Given the description of an element on the screen output the (x, y) to click on. 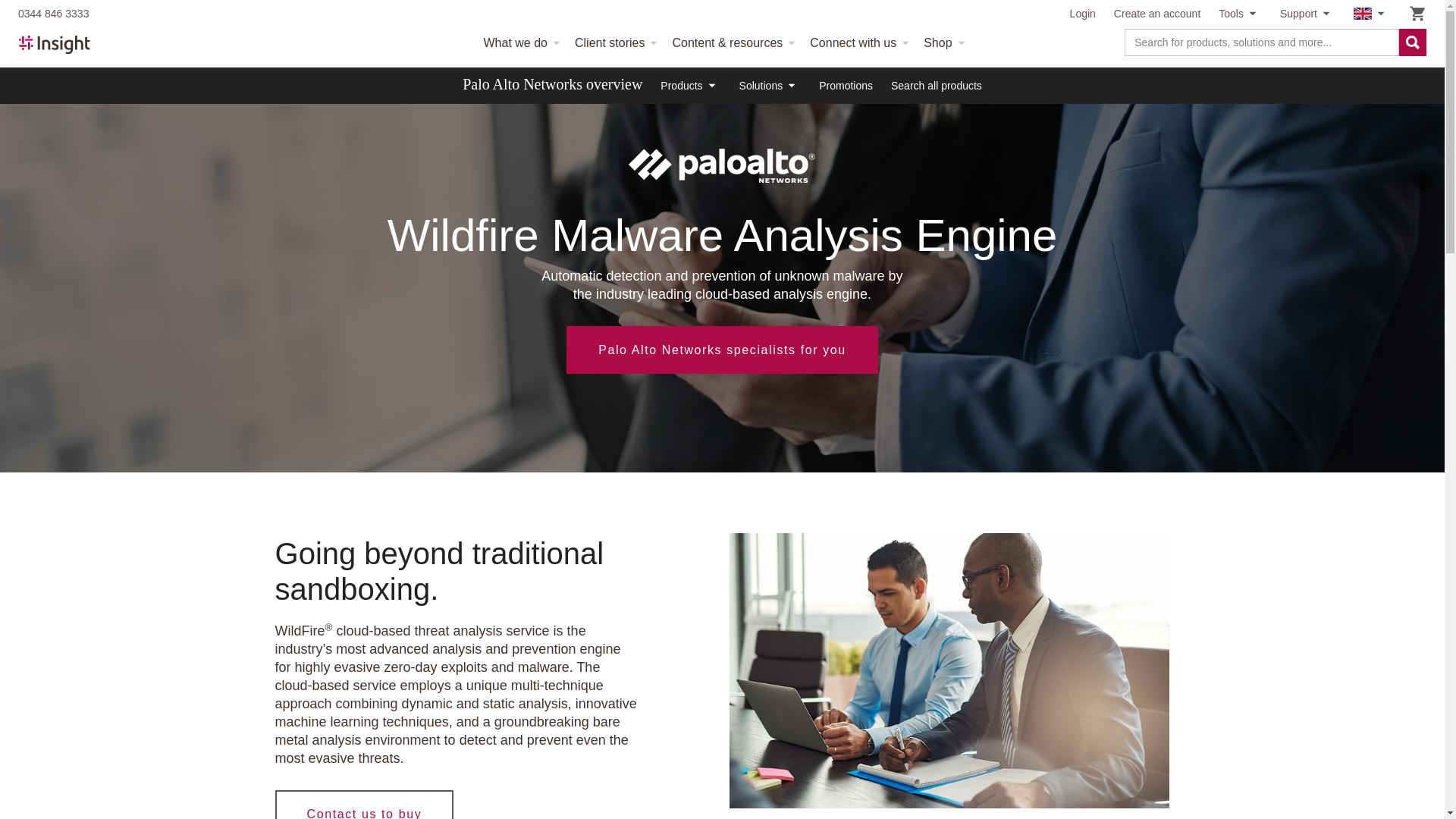
Palo Alto Networks logo (721, 165)
What we do (519, 42)
Create an account (1156, 13)
Search all products (936, 85)
0344 846 3333 (52, 13)
Client stories (614, 42)
Going beyond traditional sandboxing. (949, 670)
Connect with us (857, 42)
Promotions (845, 85)
Login (1083, 13)
